Given the description of an element on the screen output the (x, y) to click on. 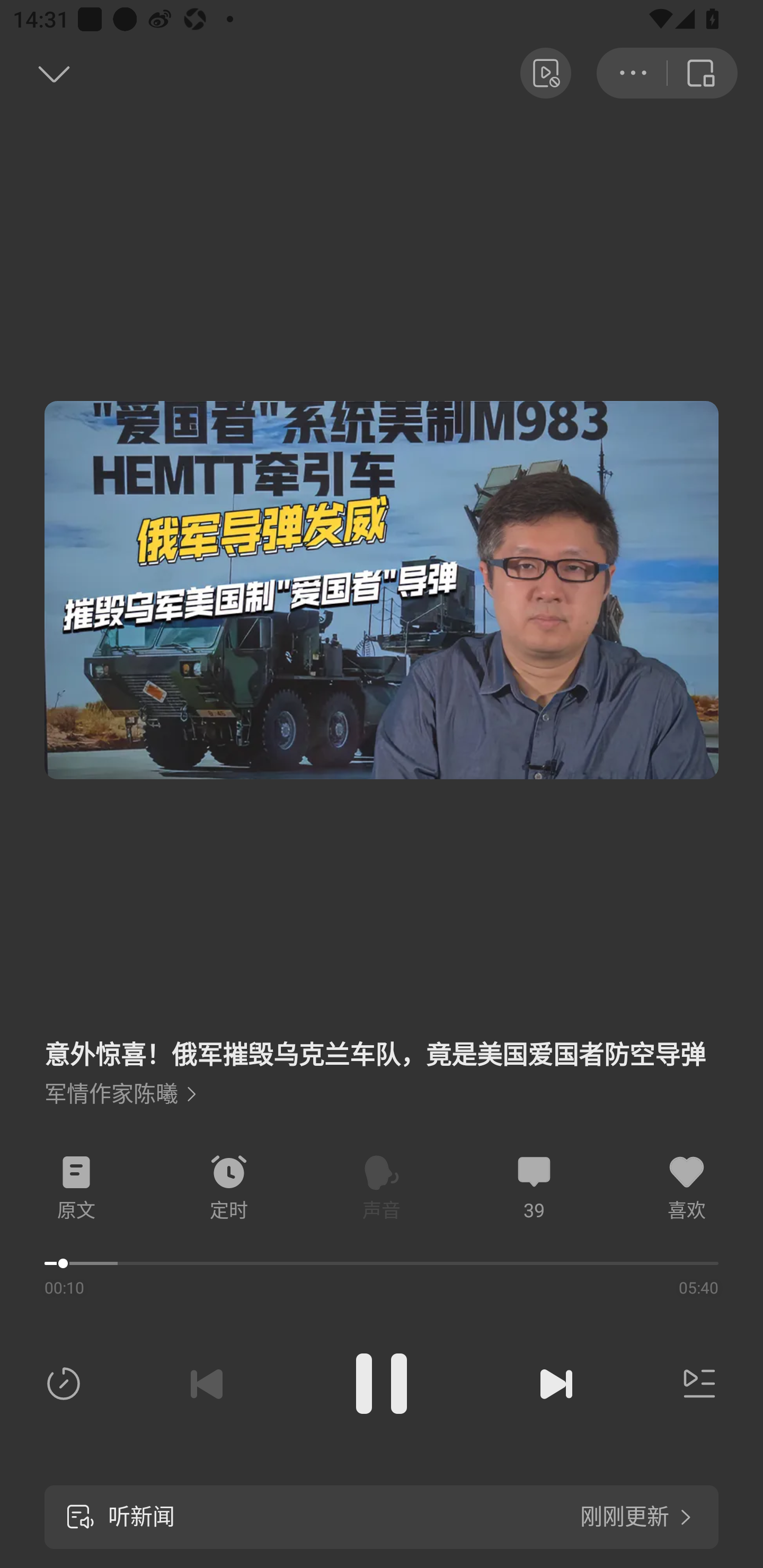
返回 (35, 72)
更多 (631, 72)
返回 (702, 72)
27万 “真正信心”号货船遇袭，胡塞武装紧急发声 知味资讯1分钟前 07:30 (381, 1086)
军情作家陈曦 (120, 1094)
原文 (76, 1188)
定时，按钮 定时 (228, 1188)
声音，音色按钮 声音 (381, 1188)
39条评论，按钮 39 (533, 1188)
喜欢，按钮 喜欢 (686, 1188)
236万 让严重资不抵债的房企破产，释放什么信号？楼市大变局 强老师儿1分钟前 08:01 (381, 1286)
暂停 (381, 1383)
倍速，按钮 (67, 1383)
列表，按钮 (695, 1383)
听新闻 刚刚更新 (381, 1516)
